Given the description of an element on the screen output the (x, y) to click on. 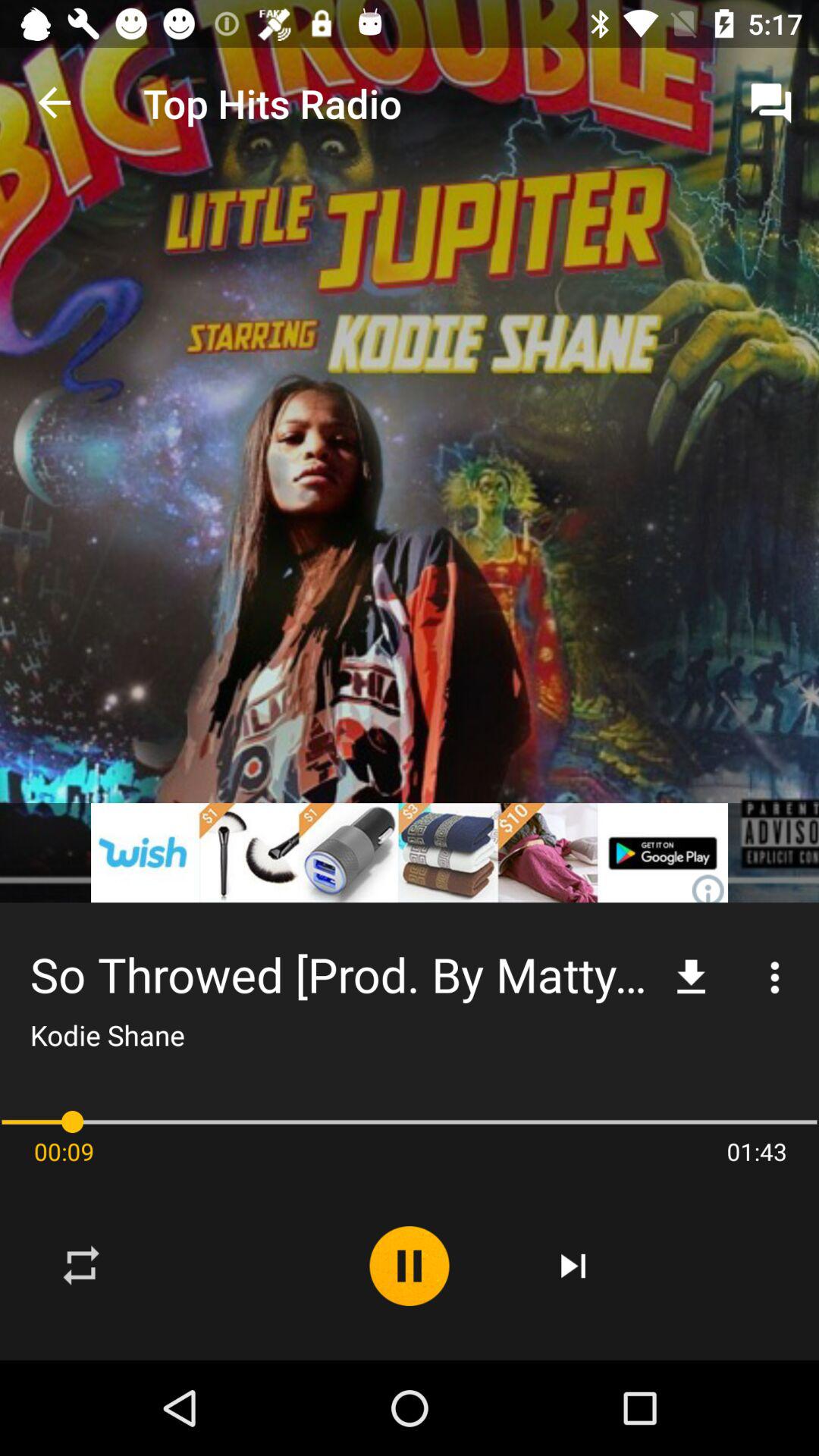
select the icon to the left of the top hits radio item (55, 103)
